Given the description of an element on the screen output the (x, y) to click on. 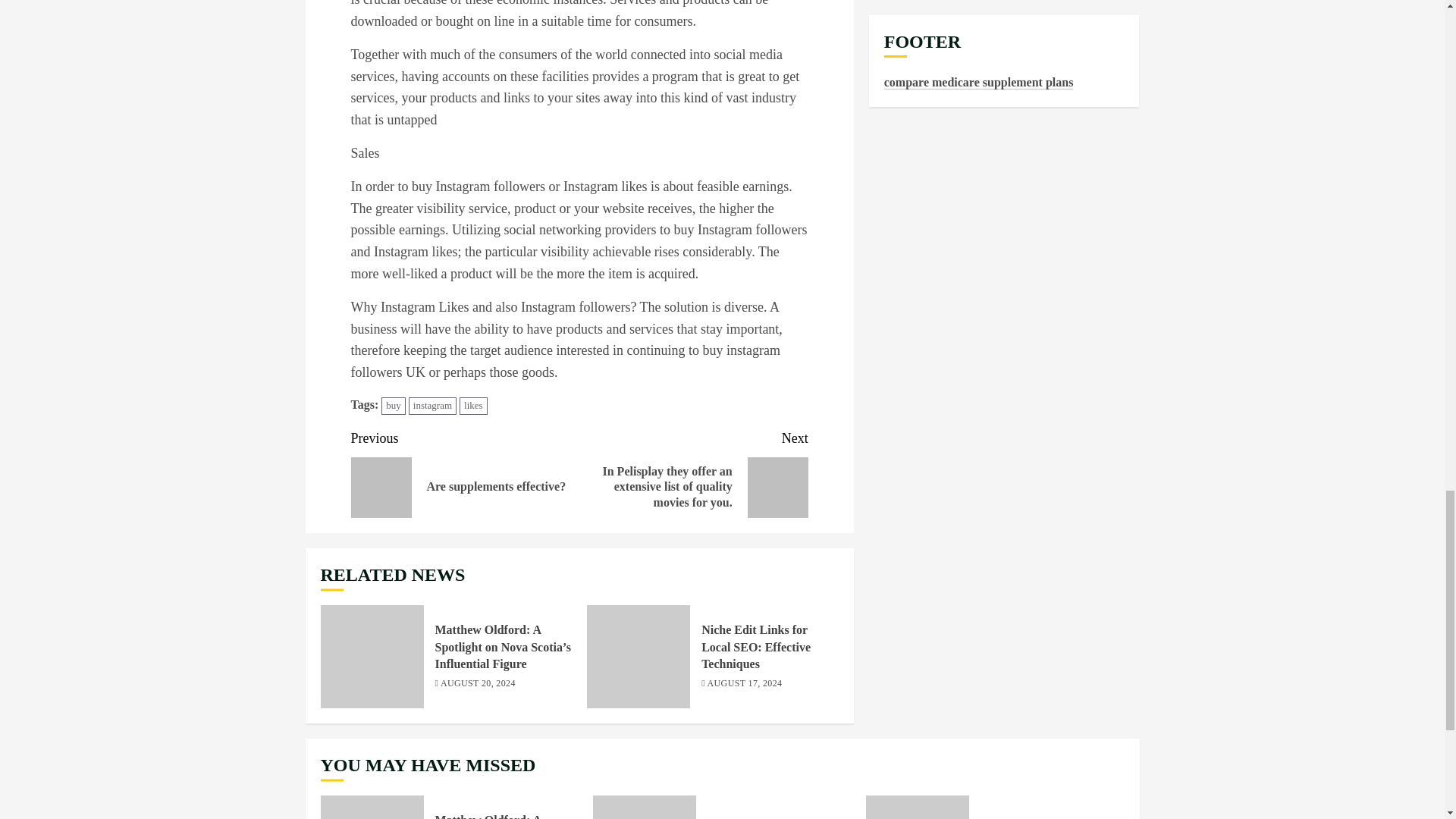
Niche Edit Links for Local SEO: Effective Techniques (464, 472)
instagram (755, 646)
likes (433, 405)
Niche Edit Links for Local SEO: Effective Techniques (473, 405)
Niche Edit Links for Local SEO: Effective Techniques (917, 807)
buy (638, 656)
Find Your Distributor: A Detailed Directory (393, 405)
